Given the description of an element on the screen output the (x, y) to click on. 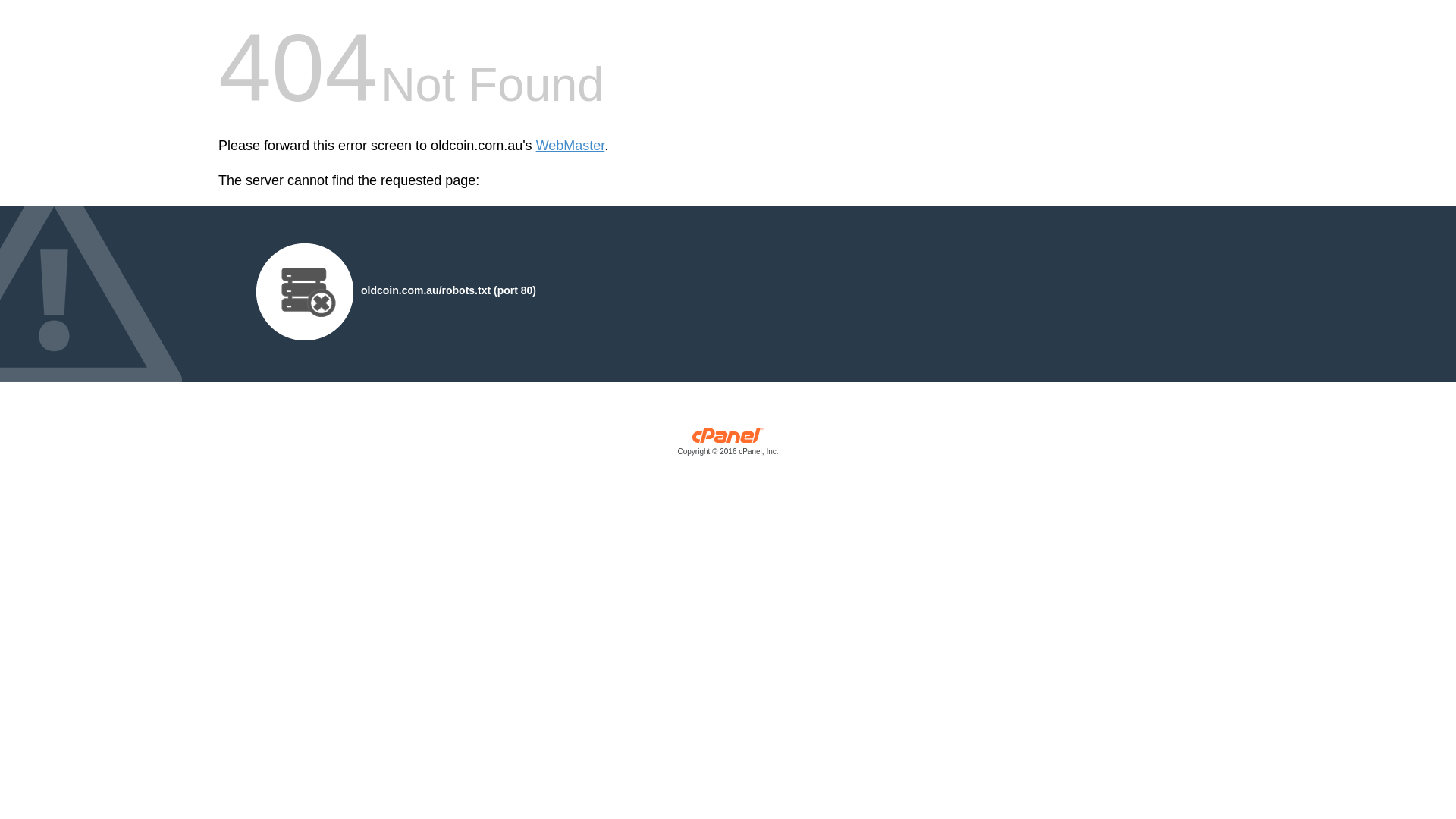
WebMaster Element type: text (570, 145)
